Given the description of an element on the screen output the (x, y) to click on. 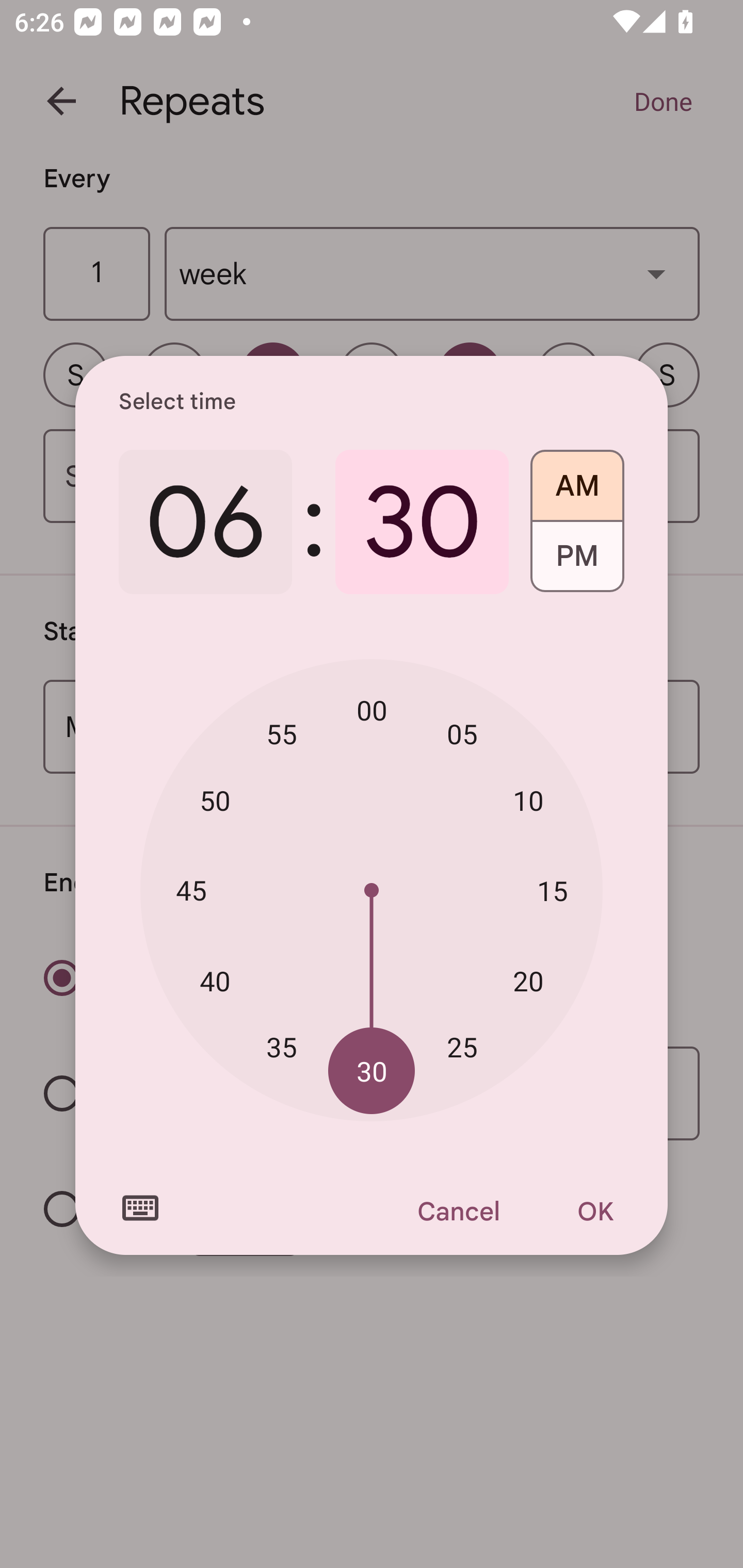
AM (577, 478)
06 6 o'clock (204, 522)
30 30 minutes (421, 522)
PM (577, 563)
00 00 minutes (371, 710)
55 55 minutes (281, 733)
05 05 minutes (462, 733)
50 50 minutes (214, 800)
10 10 minutes (528, 800)
45 45 minutes (190, 889)
15 15 minutes (551, 890)
40 40 minutes (214, 980)
20 20 minutes (528, 980)
35 35 minutes (281, 1046)
25 25 minutes (462, 1046)
30 30 minutes (371, 1071)
Switch to text input mode for the time input. (140, 1208)
Cancel (458, 1211)
OK (595, 1211)
